Given the description of an element on the screen output the (x, y) to click on. 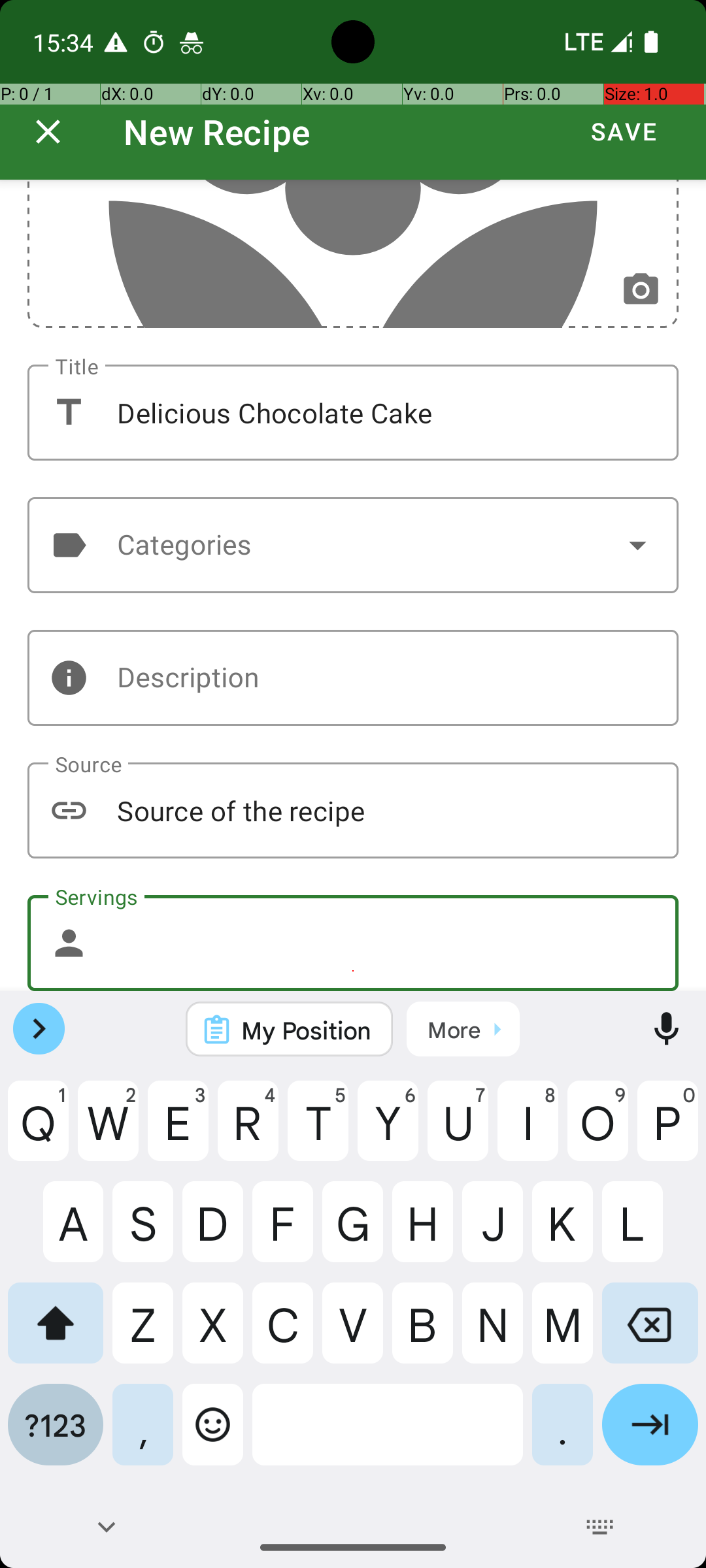
Delicious Chocolate Cake Element type: android.widget.EditText (352, 412)
Source of the recipe Element type: android.widget.EditText (352, 810)
